Given the description of an element on the screen output the (x, y) to click on. 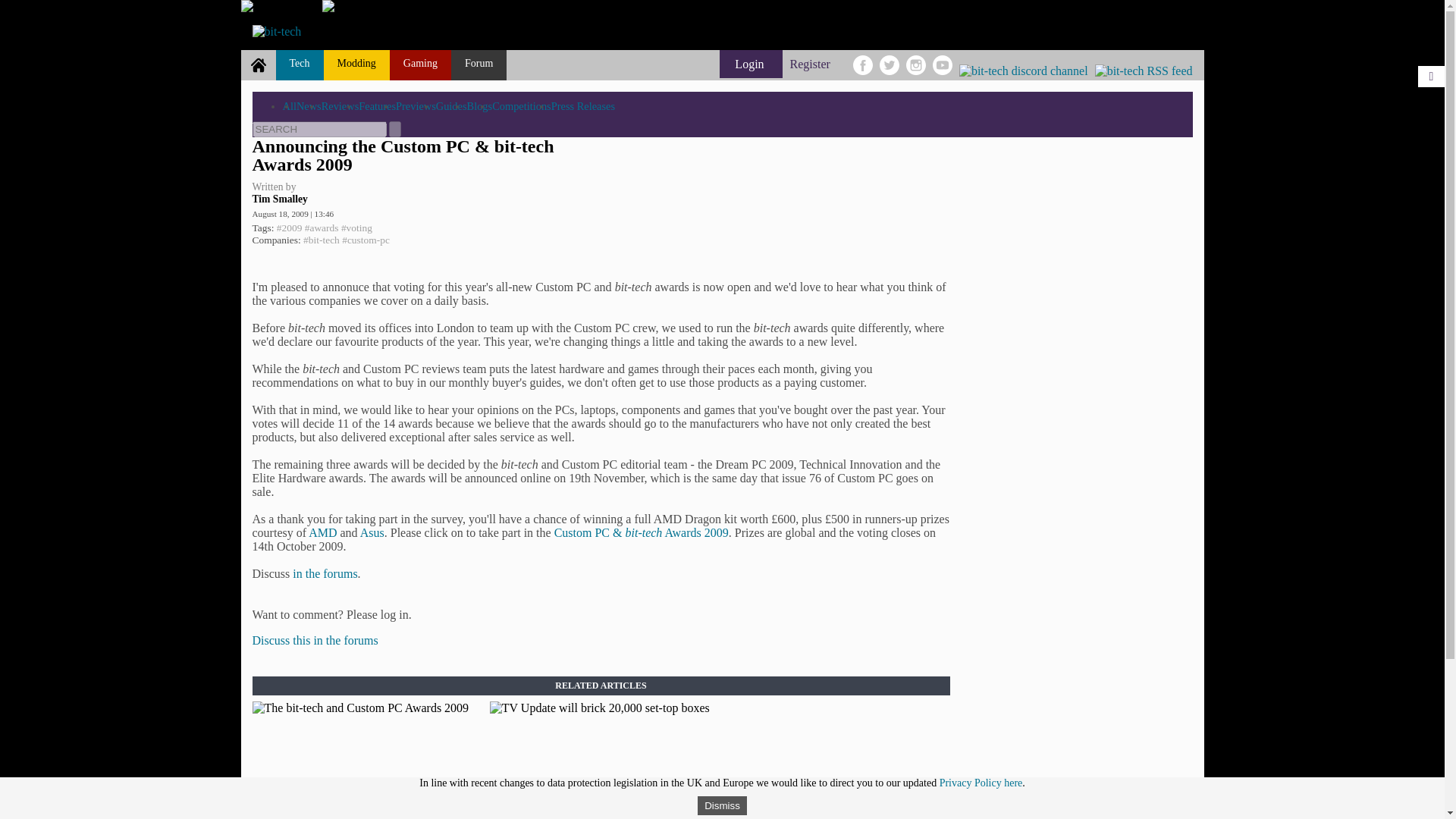
Features (377, 105)
Login (750, 63)
News (309, 105)
Reviews (340, 105)
Discuss this in the forums (314, 640)
Previews (415, 105)
Blogs (480, 105)
Asus (371, 532)
in the forums (324, 573)
All (288, 105)
